Given the description of an element on the screen output the (x, y) to click on. 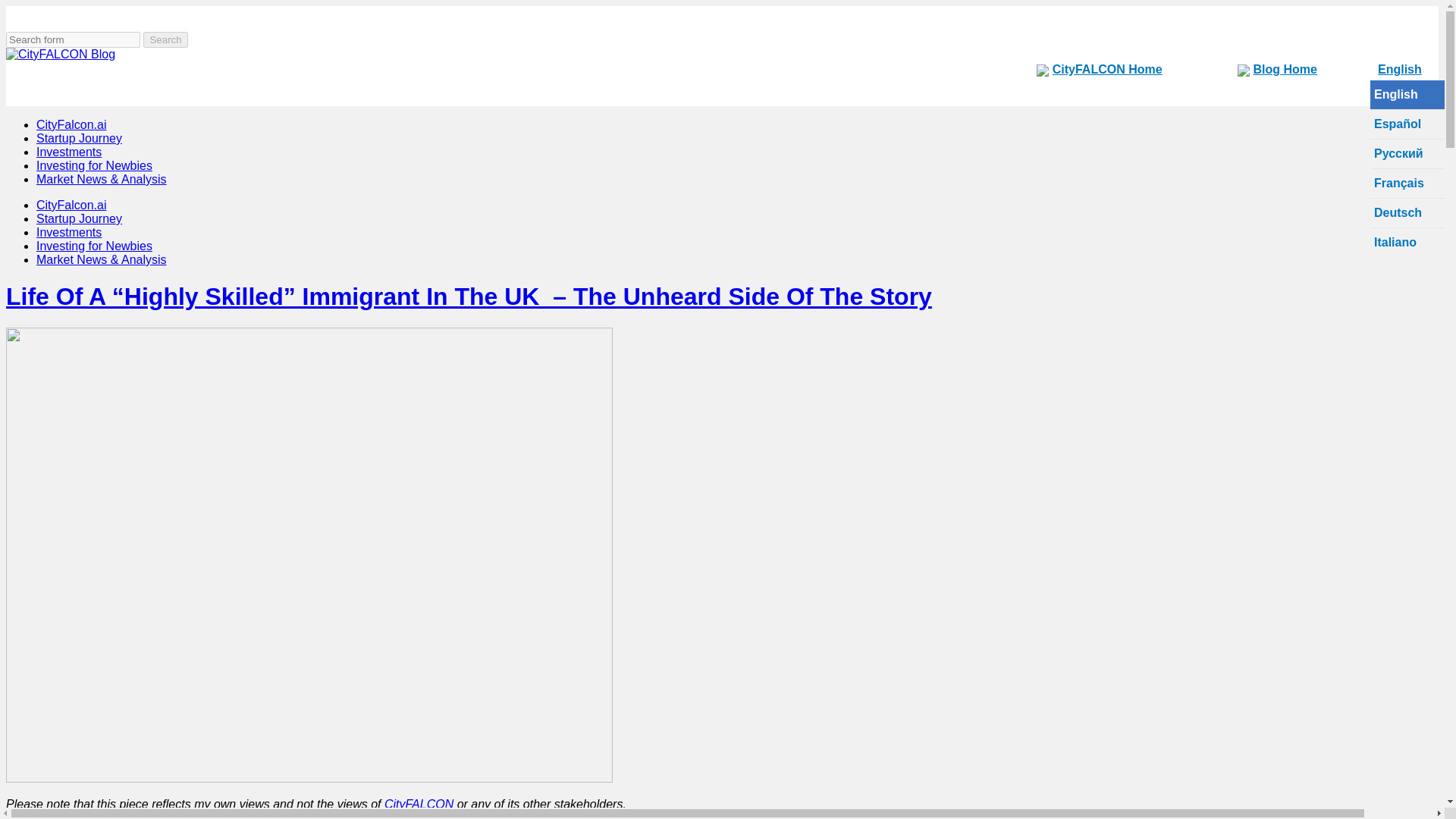
English (1396, 69)
CityFalcon.ai (71, 124)
Blog Home (1286, 68)
Startup Journey (79, 137)
Search (164, 39)
CityFALCON (418, 803)
Search (164, 39)
Startup Journey (79, 218)
English (1396, 69)
Search (164, 39)
